Given the description of an element on the screen output the (x, y) to click on. 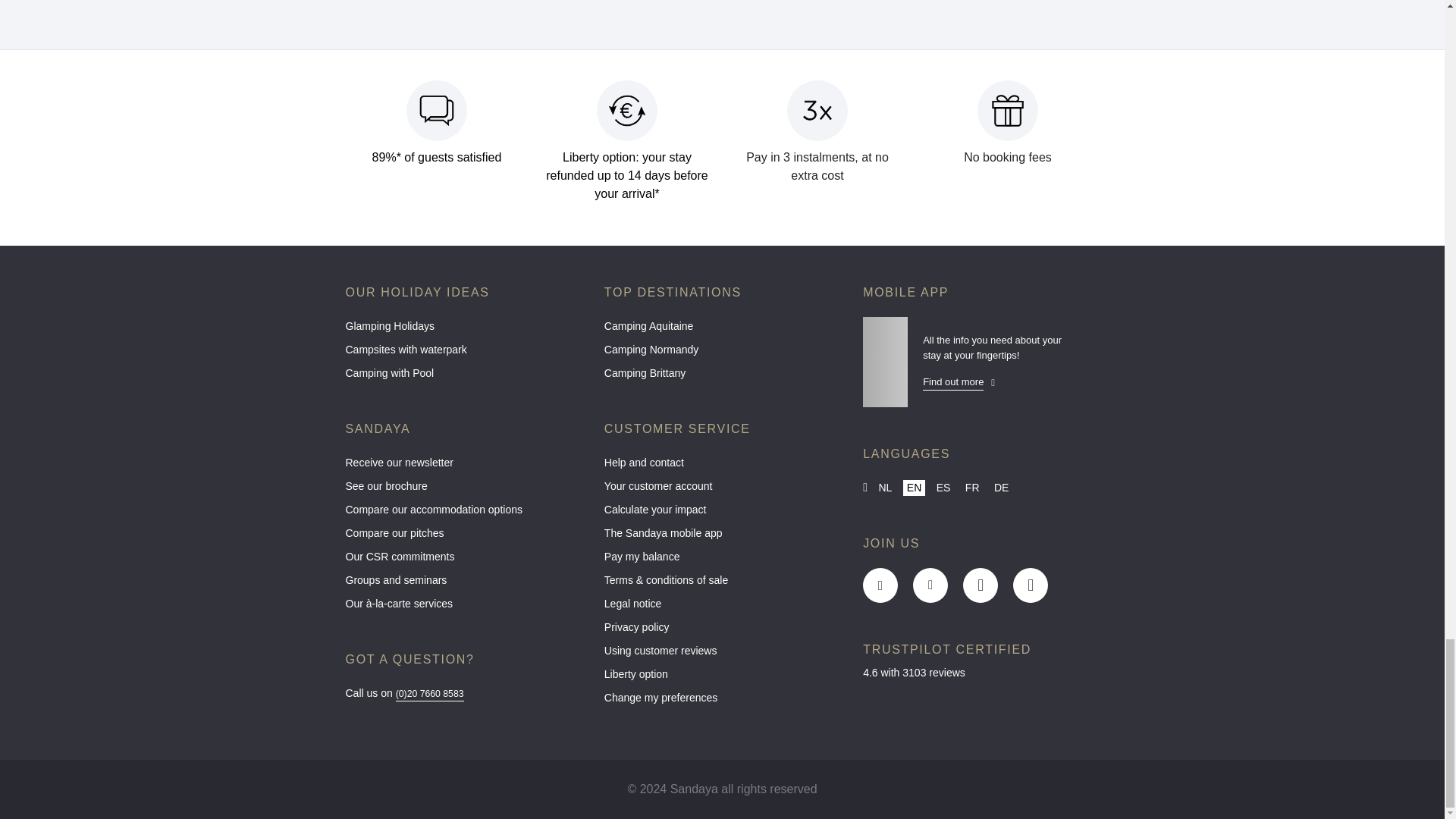
Using customer reviews (722, 654)
Help and contact (722, 466)
Legal notice (722, 607)
See our brochure (463, 490)
Your customer account (722, 490)
Calculate your impact (722, 513)
Compare our accommodation options (463, 513)
Groups and seminars (463, 584)
Pay my balance (722, 560)
Privacy policy (722, 630)
